Given the description of an element on the screen output the (x, y) to click on. 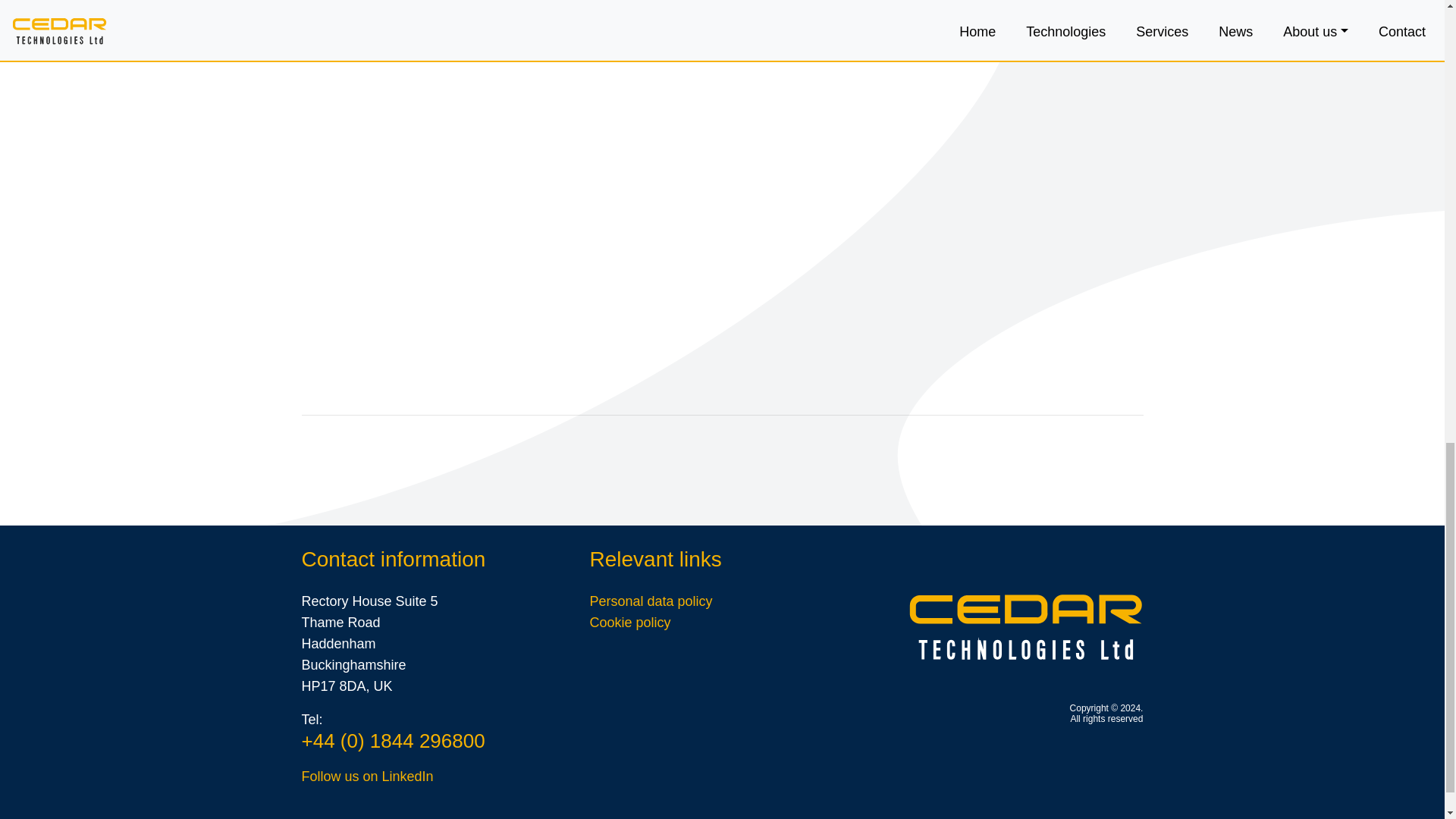
Cookie policy (629, 622)
Personal data policy (650, 601)
Follow us on LinkedIn (367, 776)
